Given the description of an element on the screen output the (x, y) to click on. 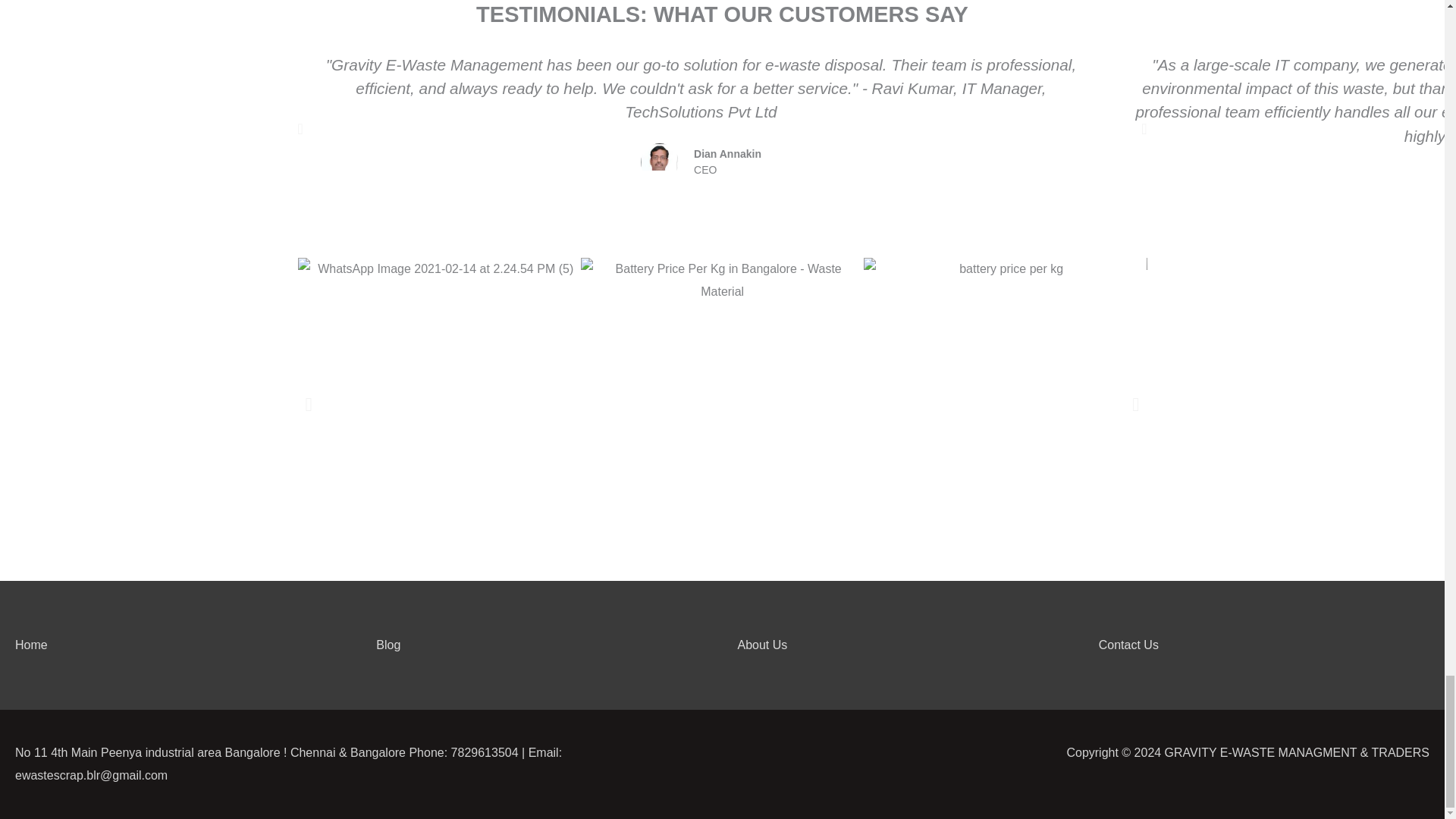
Home 11 (659, 161)
Blog (387, 644)
About Us (761, 644)
Home (31, 644)
Contact Us (1128, 644)
